Given the description of an element on the screen output the (x, y) to click on. 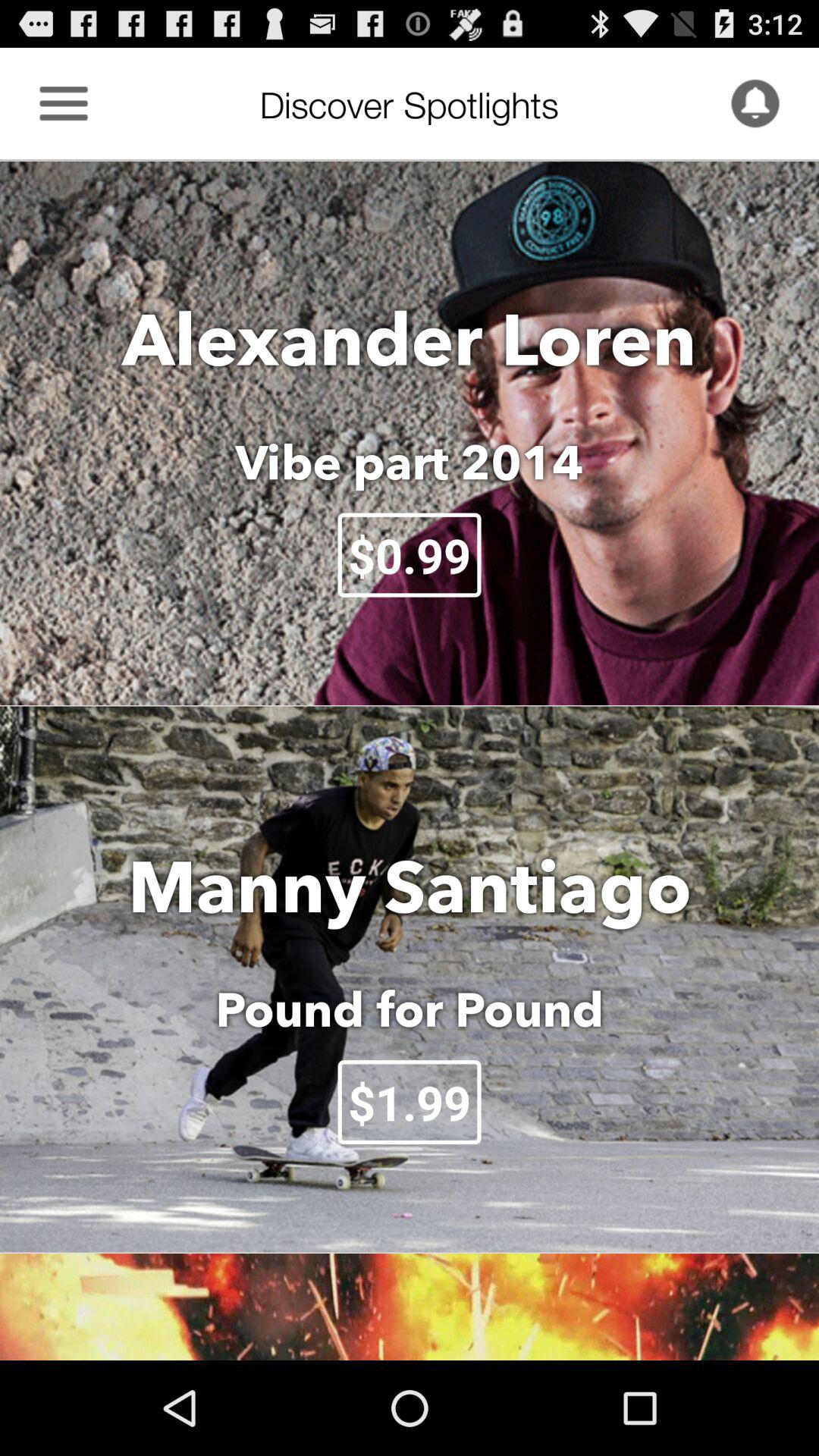
click icon above the $0.99 icon (409, 461)
